Given the description of an element on the screen output the (x, y) to click on. 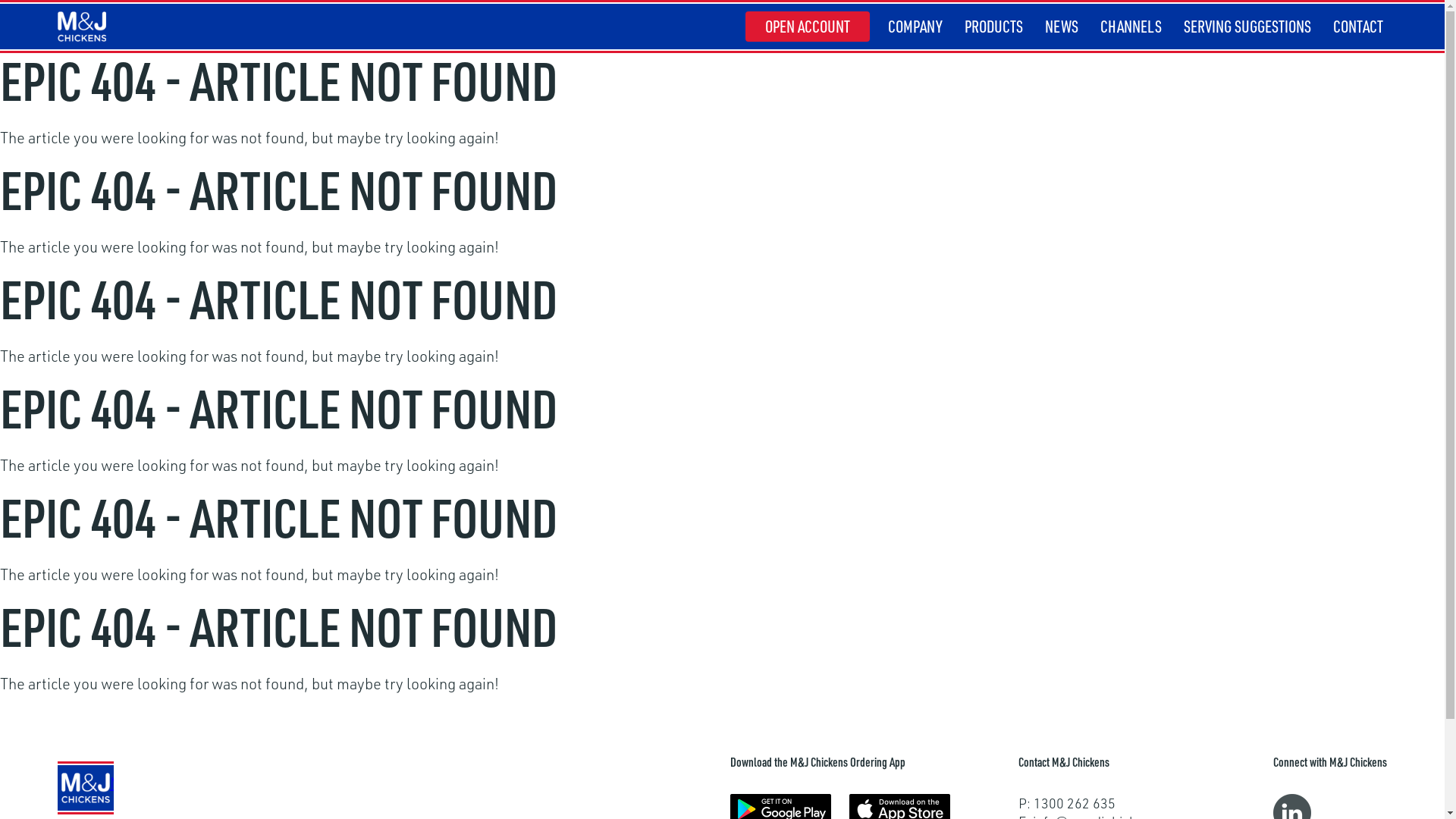
M&J Chickens Element type: text (81, 26)
COMPANY Element type: text (915, 26)
CONTACT Element type: text (1357, 26)
CHANNELS Element type: text (1130, 26)
1300 262 635 Element type: text (1074, 802)
SERVING SUGGESTIONS Element type: text (1246, 26)
PRODUCTS Element type: text (993, 26)
M&J Chickens Element type: text (85, 787)
OPEN ACCOUNT Element type: text (807, 26)
NEWS Element type: text (1061, 26)
